Given the description of an element on the screen output the (x, y) to click on. 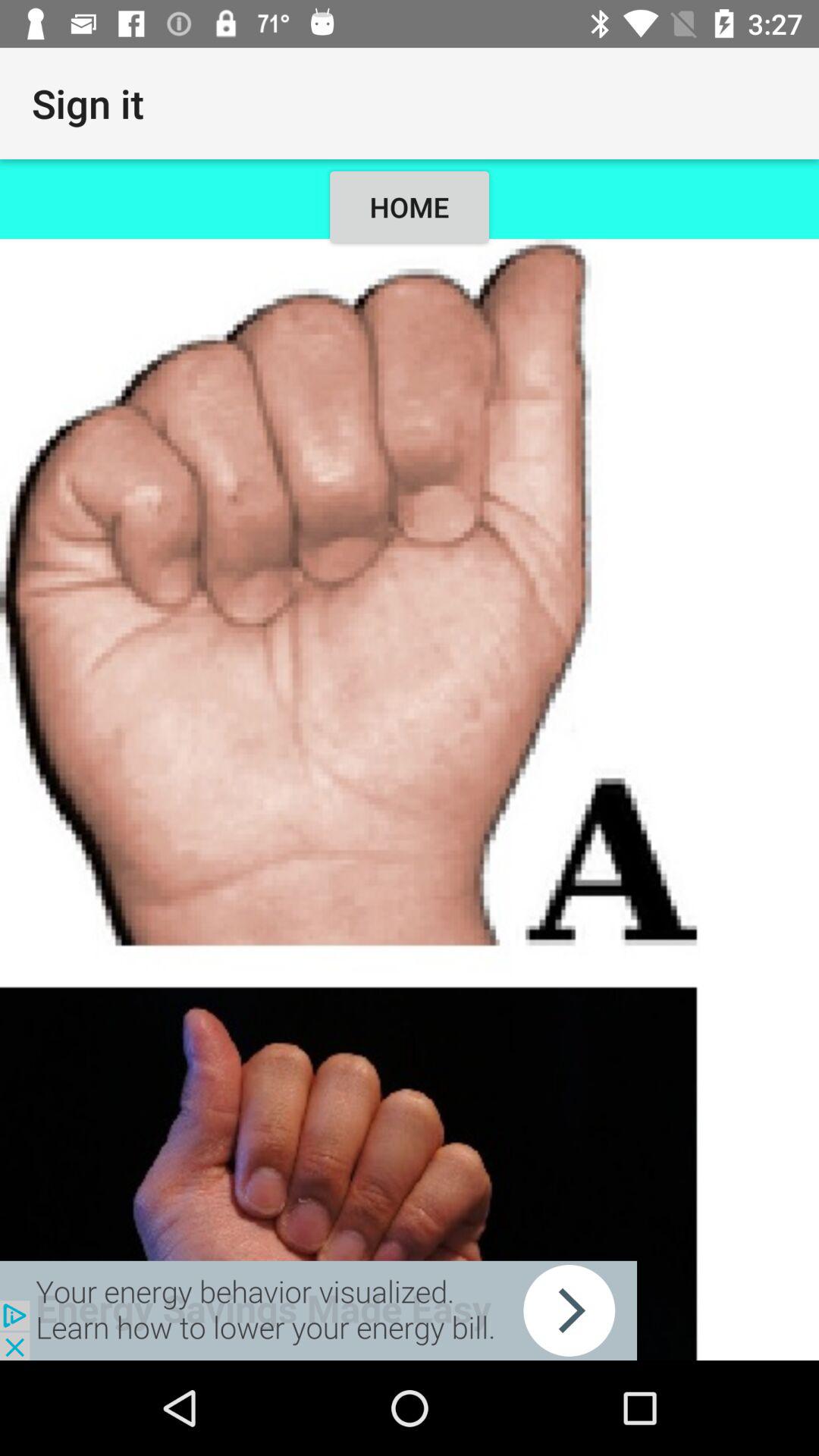
advertisement (318, 1310)
